Given the description of an element on the screen output the (x, y) to click on. 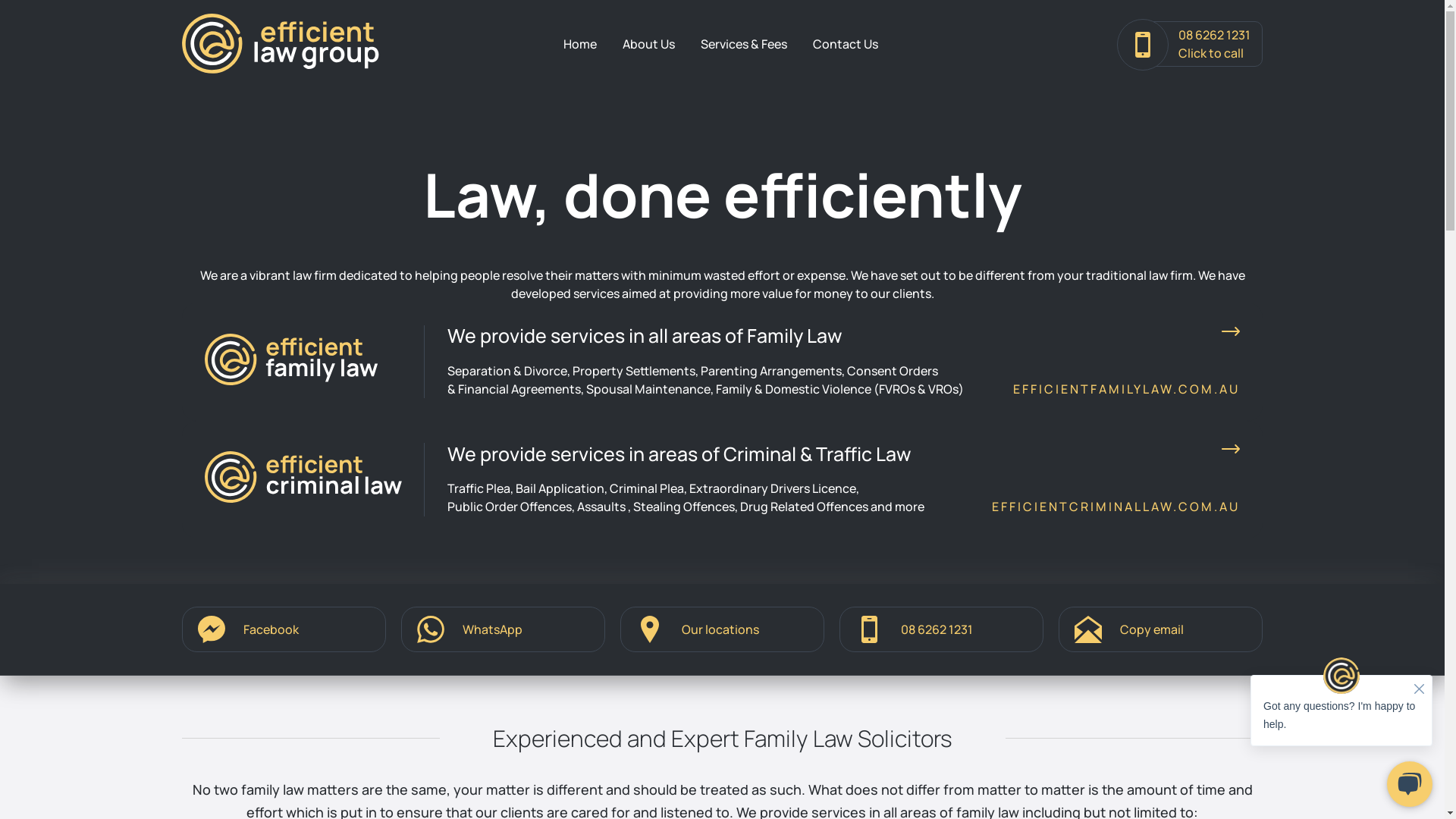
Home Element type: text (579, 43)
Facebook Element type: text (283, 629)
About Us Element type: text (648, 43)
EFFICIENTFAMILYLAW.COM.AU Element type: text (1126, 388)
08 6262 1231 Element type: text (941, 629)
Our locations Element type: text (722, 629)
Contact Us Element type: text (845, 43)
EFFICIENTCRIMINALLAW.COM.AU Element type: text (1115, 506)
WhatsApp Element type: text (503, 629)
08 6262 1231
Click to call Element type: text (1189, 43)
Copy email Element type: text (1160, 629)
Services & Fees Element type: text (743, 43)
